Given the description of an element on the screen output the (x, y) to click on. 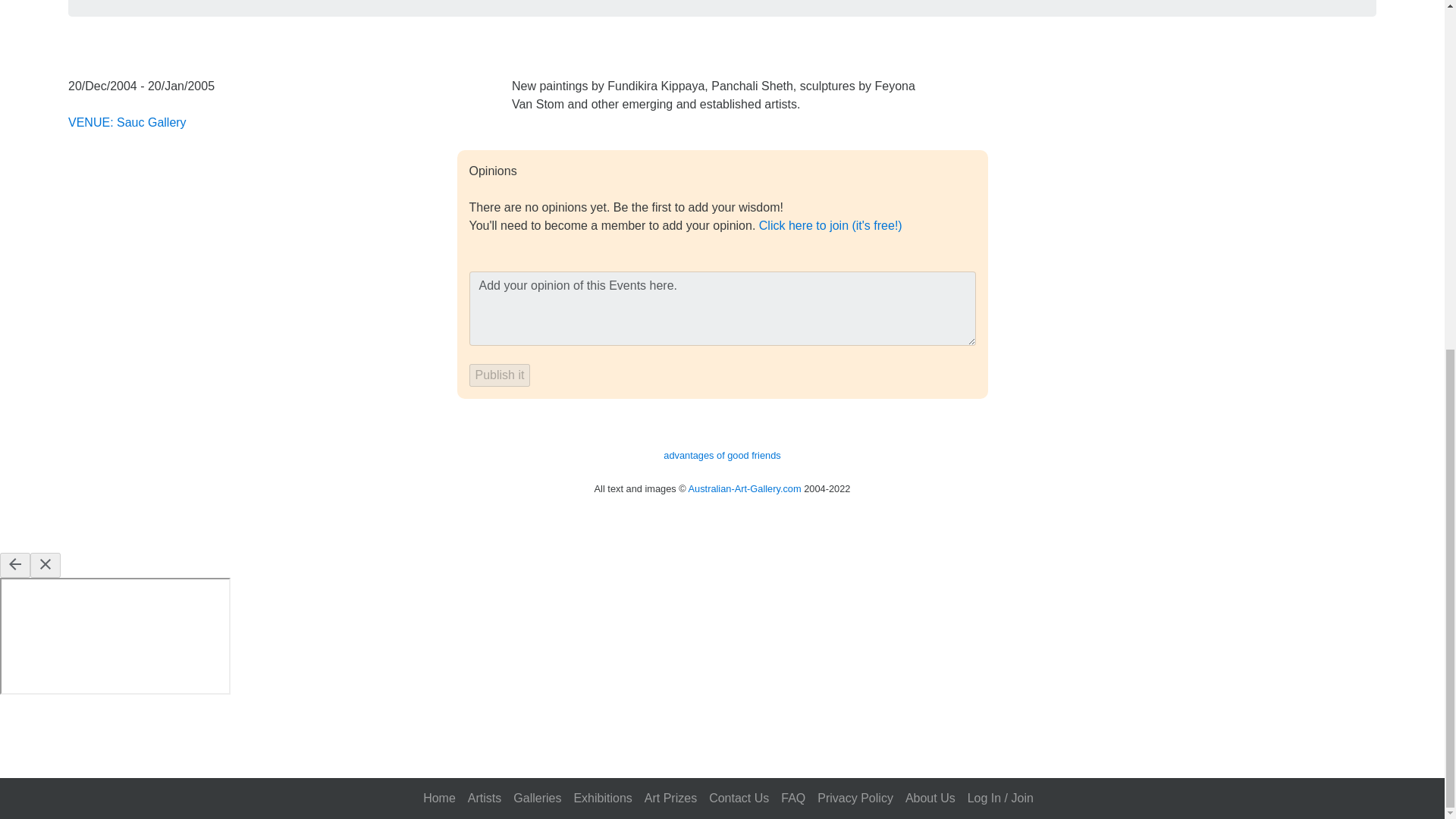
Who are we? Where are we? (930, 192)
Australian Galleries (536, 192)
Australian-Art-Gallery.com (745, 488)
Australian Artists (483, 192)
Log In (1000, 192)
Art Prizes (671, 192)
Artists (483, 192)
Australian Art Prizes (671, 192)
Click here to view the venue page. (127, 122)
Introduction (439, 192)
